Given the description of an element on the screen output the (x, y) to click on. 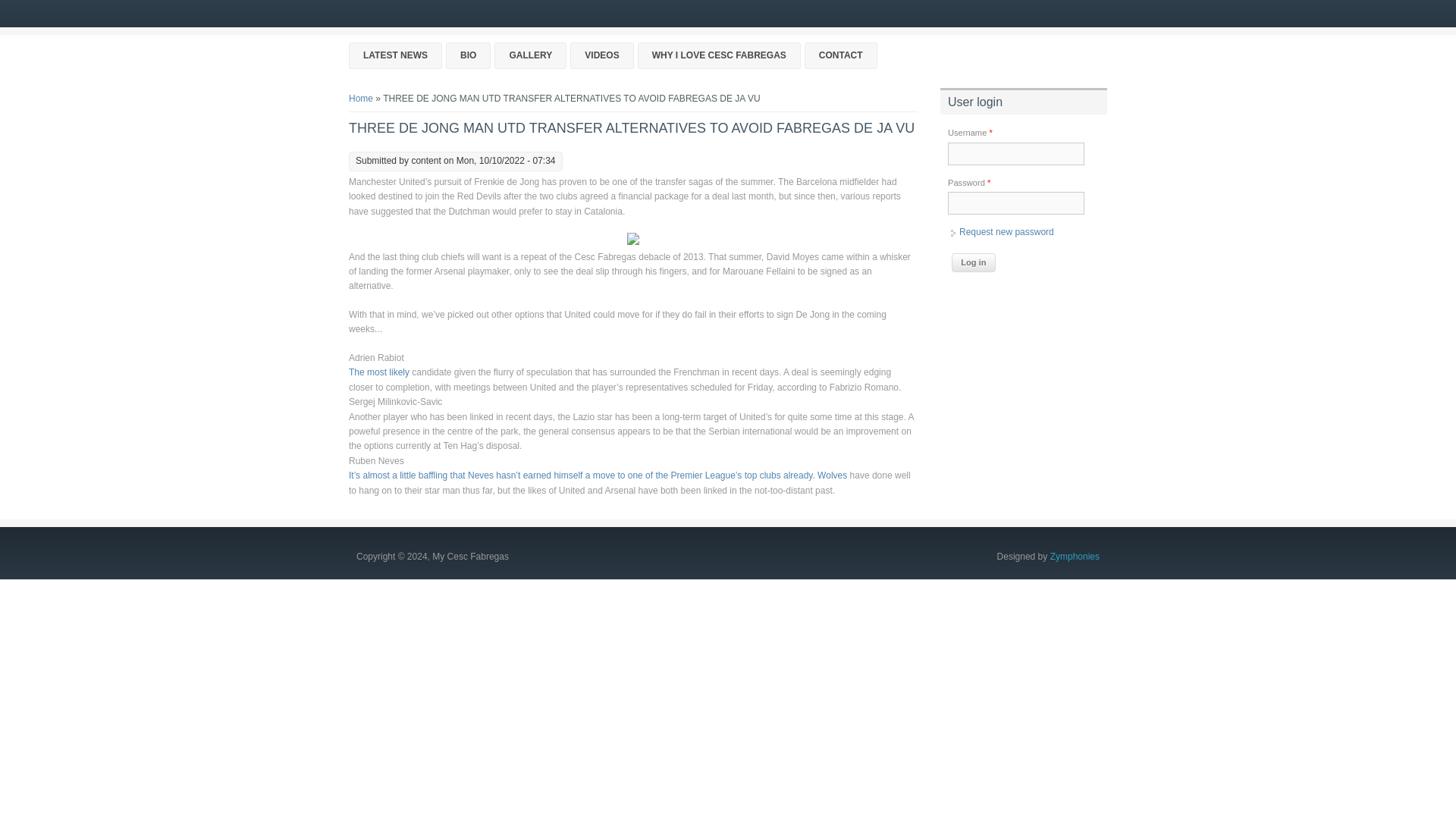
Log in (973, 262)
VIDEOS (601, 55)
Log in (973, 262)
WHY I LOVE CESC FABREGAS (718, 55)
GALLERY (530, 55)
Latest News (395, 55)
Request new password (1006, 231)
Request new password via e-mail. (1006, 231)
LATEST NEWS (395, 55)
Zymphonies (1074, 556)
CONTACT (841, 55)
BIO (467, 55)
Home (360, 98)
